Given the description of an element on the screen output the (x, y) to click on. 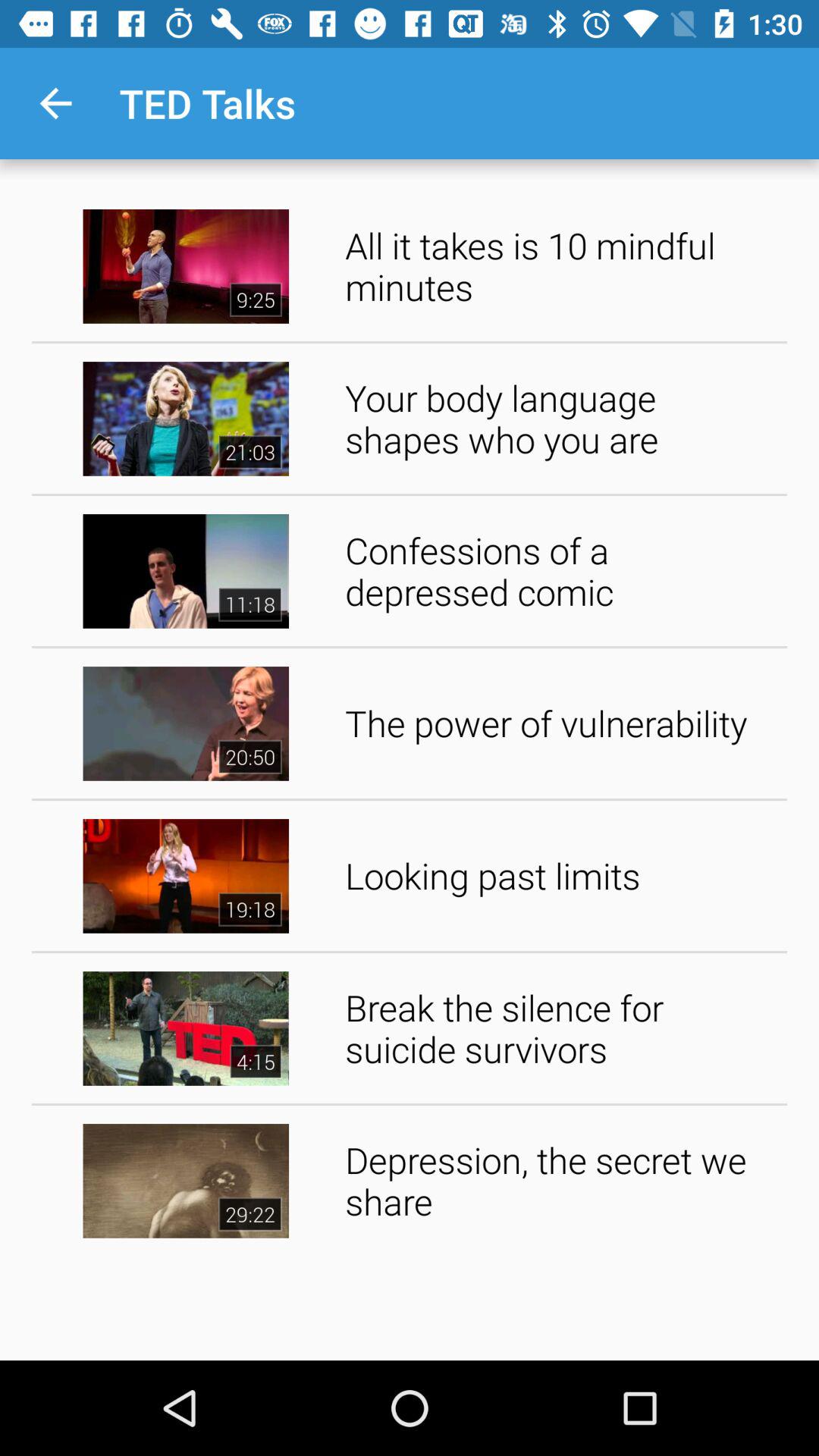
turn on icon below the all it takes icon (560, 418)
